Given the description of an element on the screen output the (x, y) to click on. 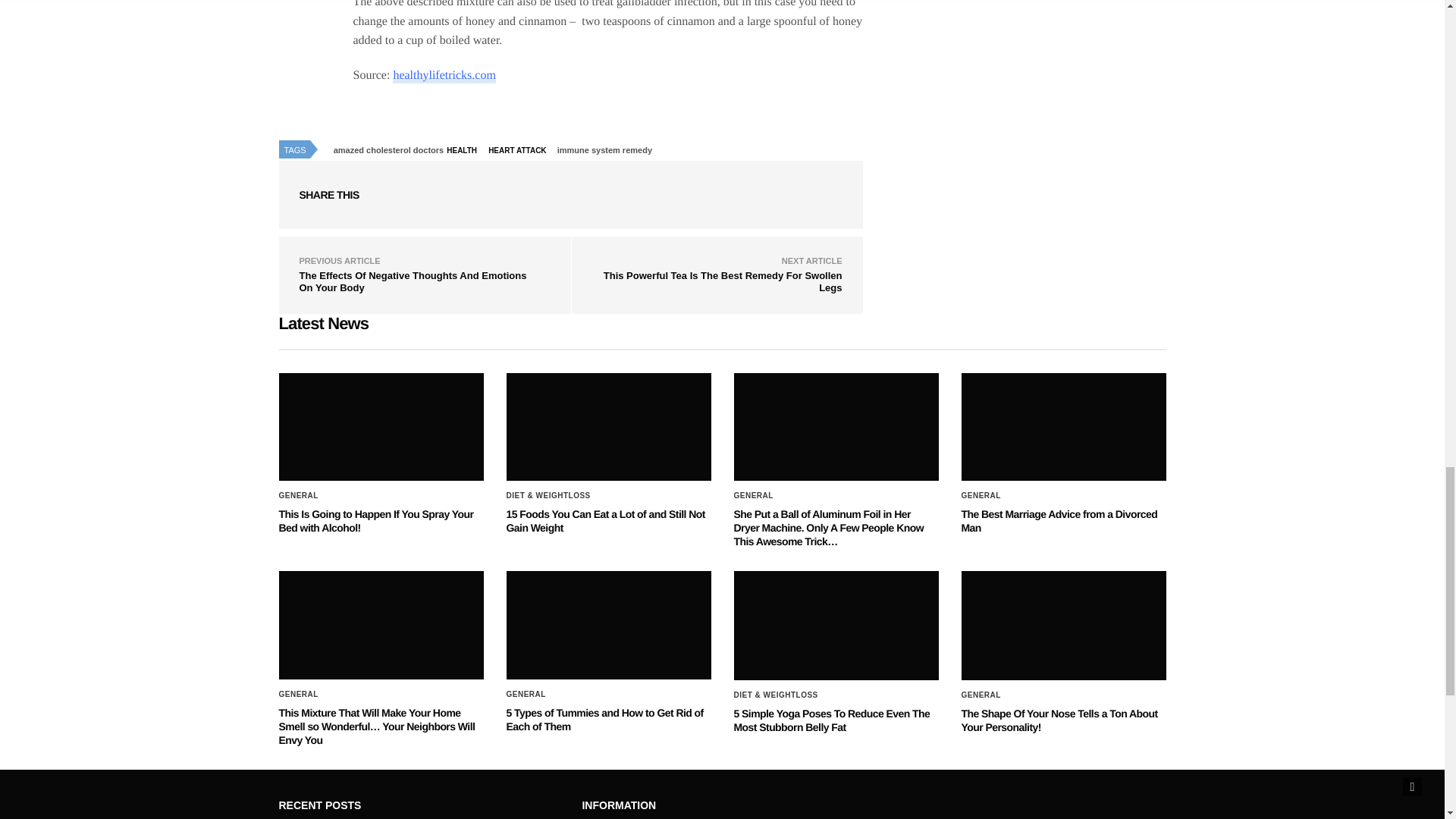
15 Foods You Can Eat a Lot of and Still Not Gain Weight (608, 426)
GENERAL (753, 495)
This Is Going to Happen If You Spray Your Bed with Alcohol! (376, 520)
This Powerful Tea Is The Best Remedy For Swollen Legs (723, 281)
The Effects Of Negative Thoughts And Emotions On Your Body (411, 281)
General (753, 495)
This Powerful Tea Is The Best Remedy For Swollen Legs (723, 281)
General (298, 495)
healthylifetricks.com (444, 75)
HEART ATTACK (520, 150)
HEALTH (464, 150)
GENERAL (980, 495)
15 Foods You Can Eat a Lot of and Still Not Gain Weight (605, 520)
The Effects Of Negative Thoughts And Emotions On Your Body (411, 281)
This Is Going to Happen If You Spray Your Bed with Alcohol! (376, 520)
